Given the description of an element on the screen output the (x, y) to click on. 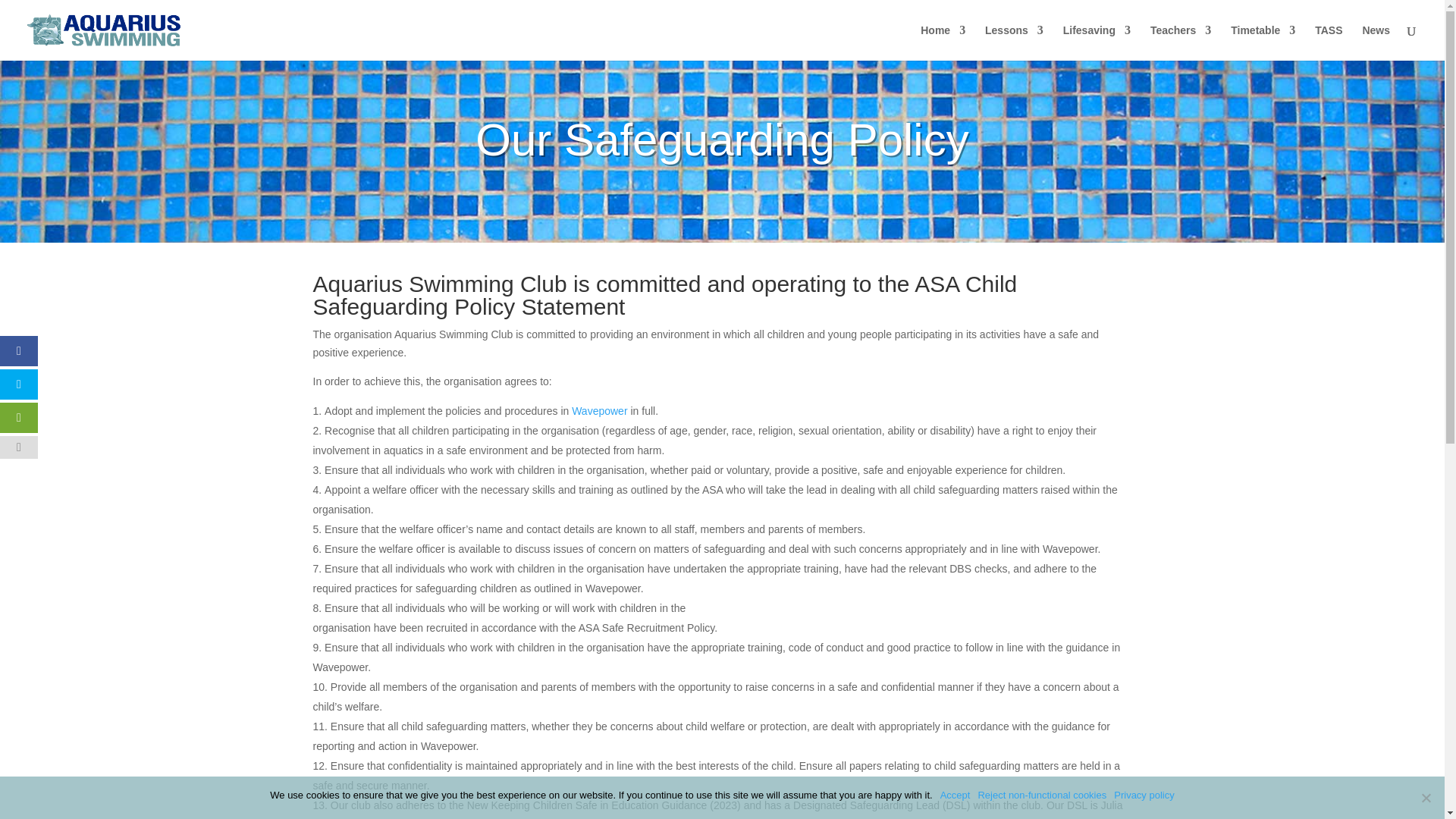
Lessons (1014, 42)
Lifesaving (1096, 42)
Home (942, 42)
Wavepower (599, 410)
Reject non-functional cookies (1425, 797)
Teachers (1180, 42)
Timetable (1262, 42)
